Given the description of an element on the screen output the (x, y) to click on. 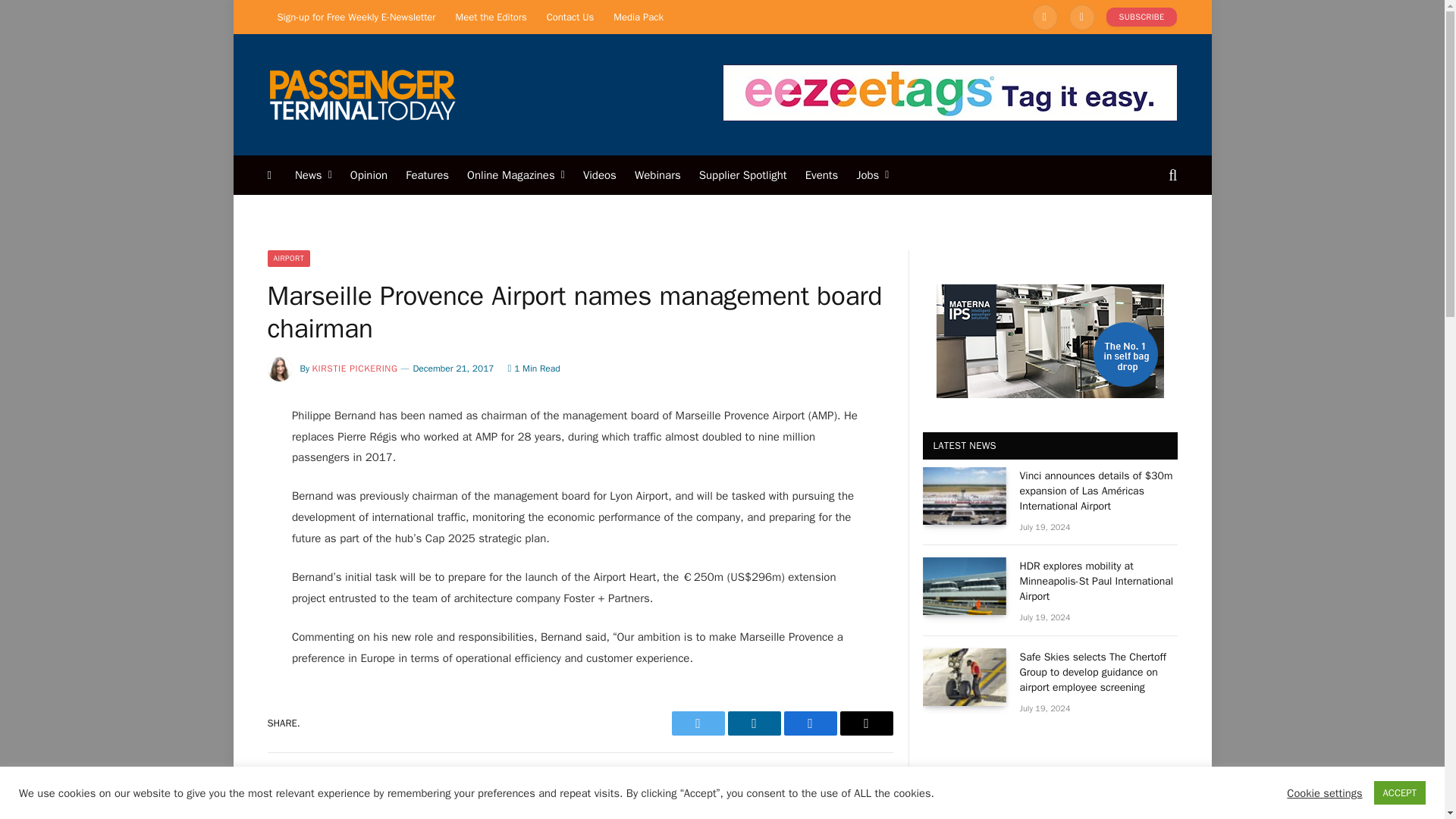
Share via Email (866, 723)
Passenger Terminal Today (361, 94)
Share on Facebook (810, 723)
Posts by Kirstie Pickering (355, 368)
Share on LinkedIn (754, 723)
